Given the description of an element on the screen output the (x, y) to click on. 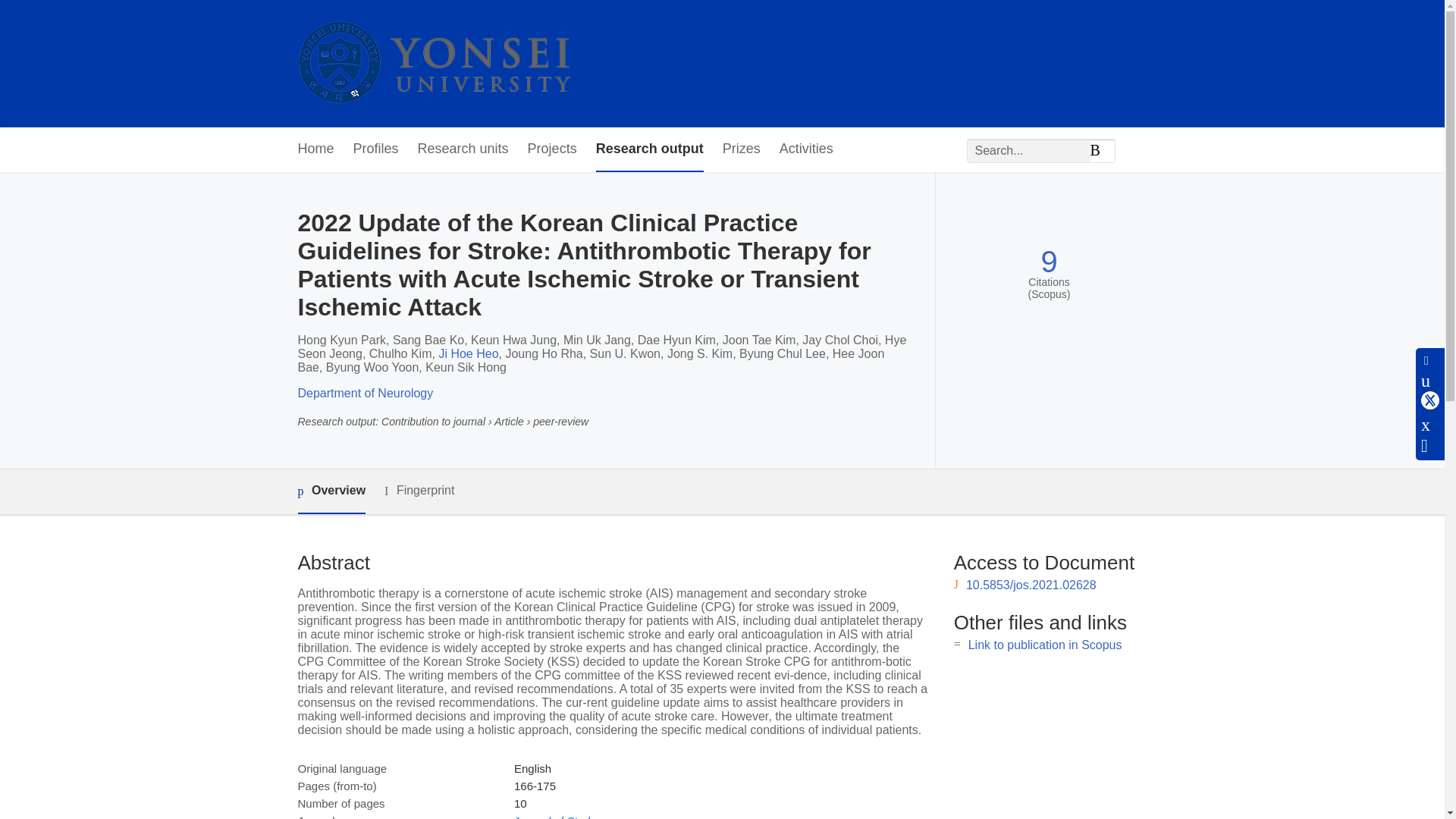
Research units (462, 149)
Overview (331, 491)
Fingerprint (419, 490)
Department of Neurology (364, 392)
Link to publication in Scopus (1045, 644)
Journal of Stroke (556, 816)
Activities (805, 149)
Research output (649, 149)
Ji Hoe Heo (467, 353)
